Given the description of an element on the screen output the (x, y) to click on. 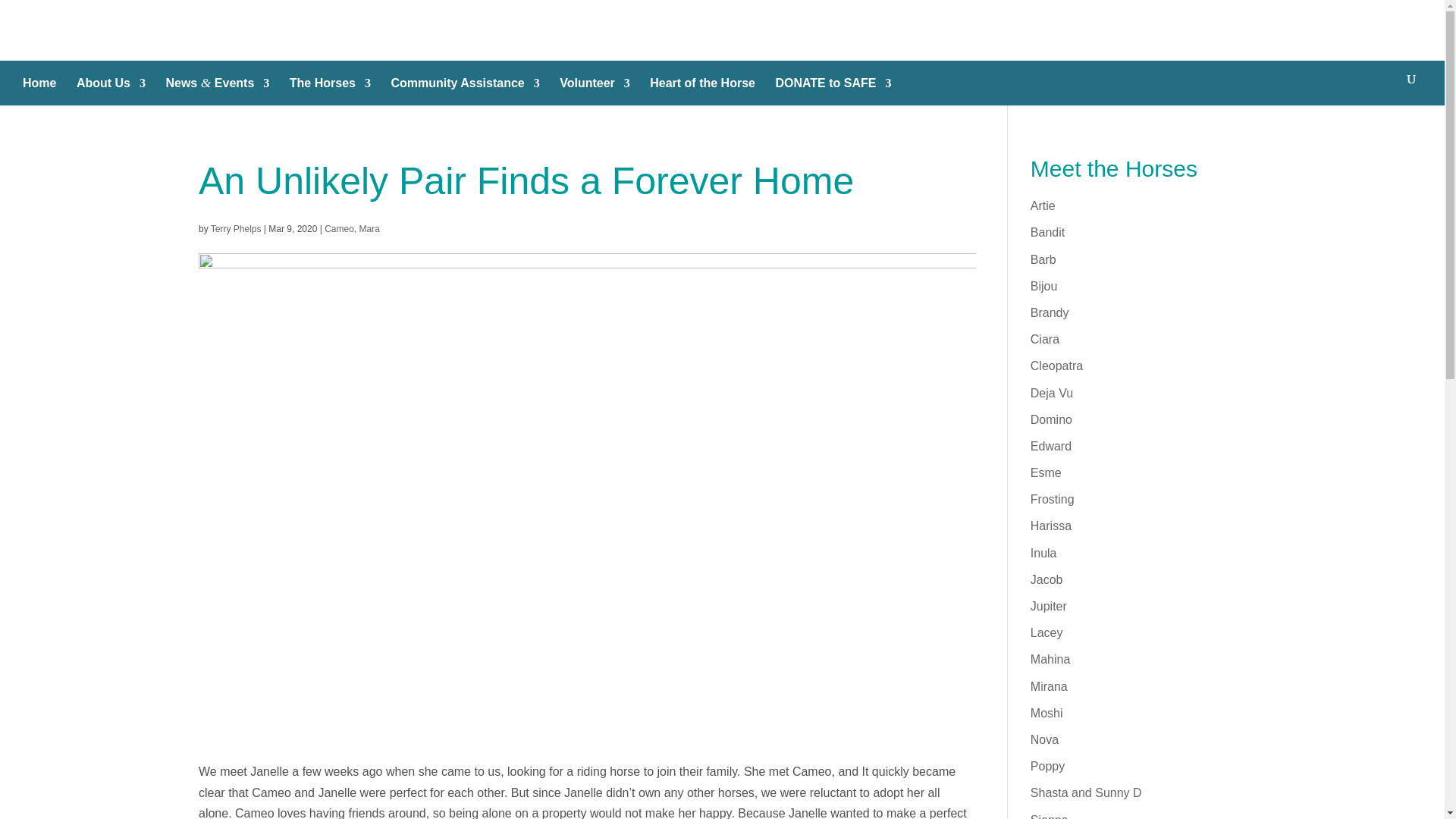
DONATE to SAFE (832, 88)
Volunteer (594, 88)
Posts by Terry Phelps (236, 228)
Heart of the Horse (702, 88)
Home (39, 88)
The Horses (330, 88)
Community Assistance (464, 88)
About Us (111, 88)
